Given the description of an element on the screen output the (x, y) to click on. 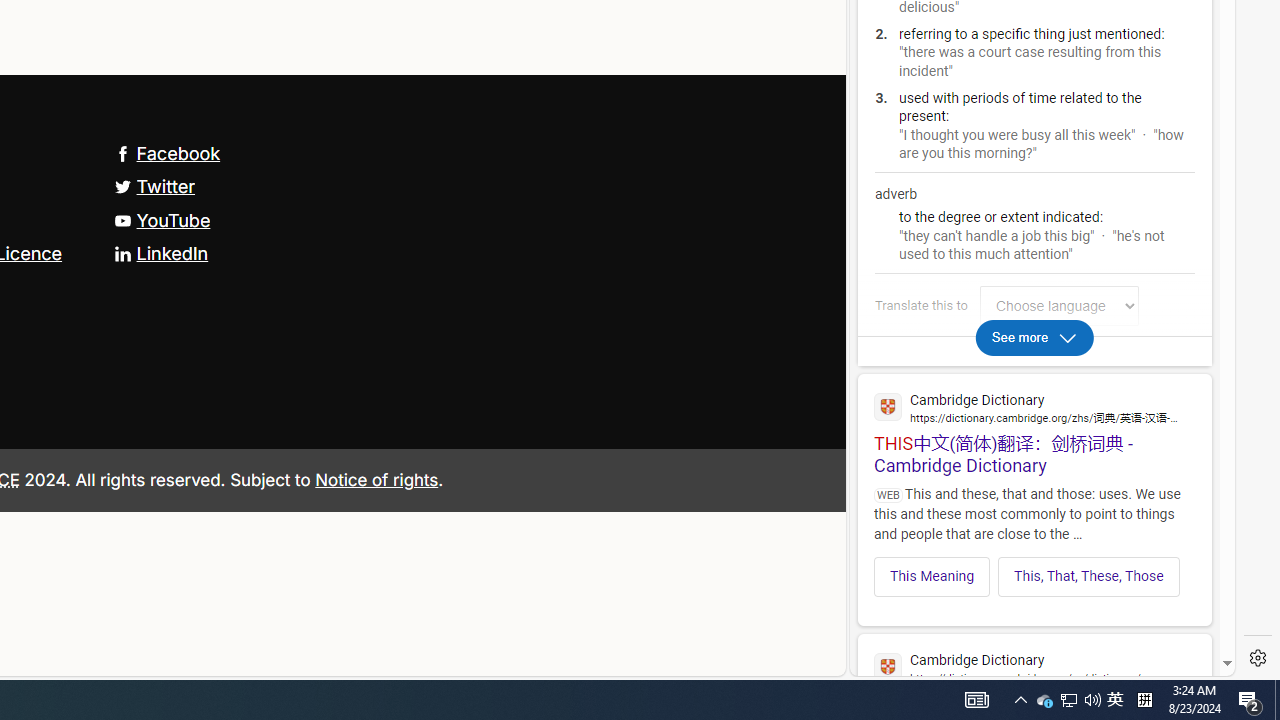
Link for logging (1064, 305)
Translate this to Choose language (1059, 305)
YouTube (162, 219)
See more (1034, 336)
Cambridge Dictionary (1034, 666)
